Given the description of an element on the screen output the (x, y) to click on. 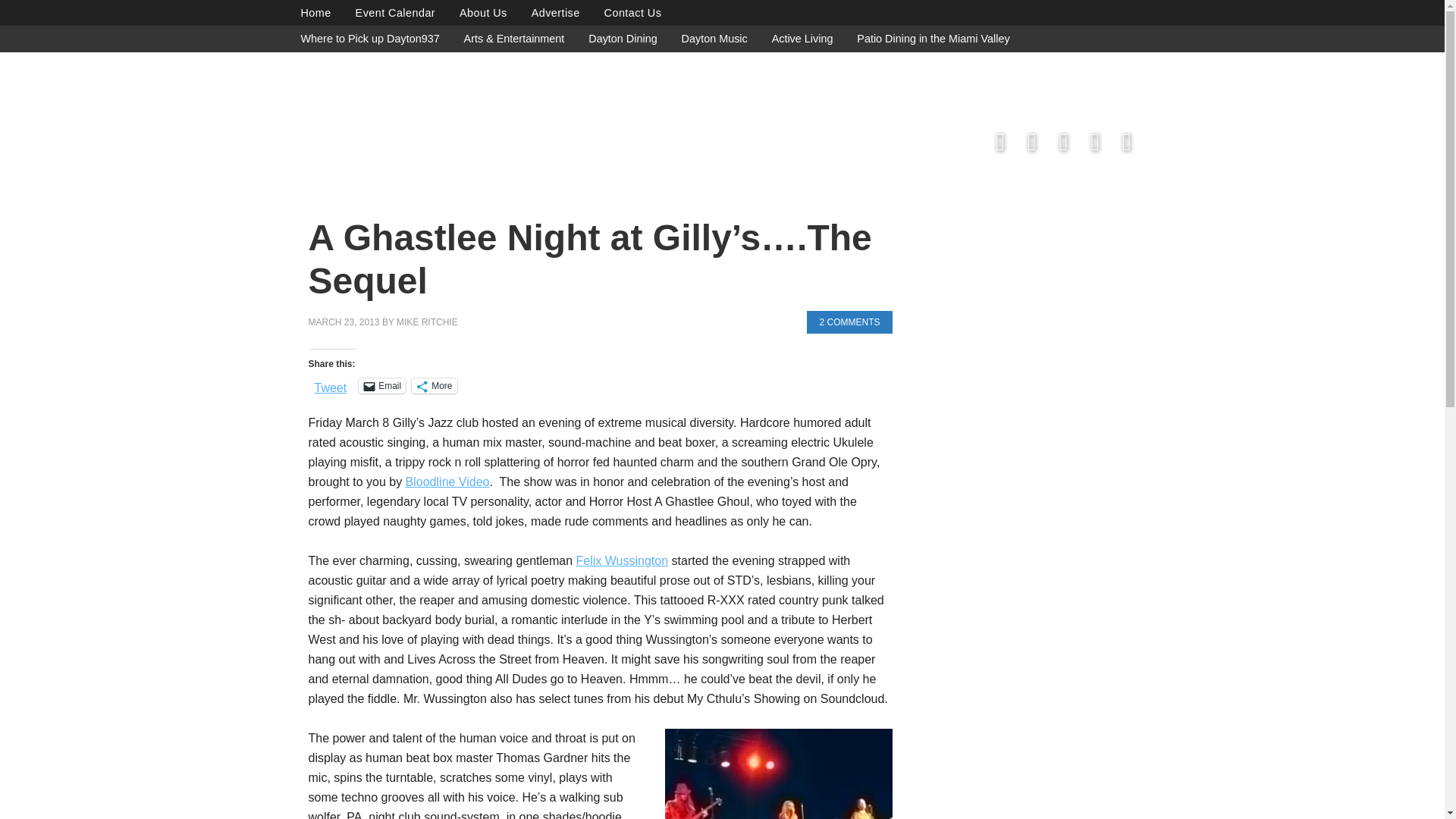
Event Calendar (395, 12)
About Us (483, 12)
Dayton Music (714, 38)
Where to Pick up Dayton937 (369, 38)
Advertise (556, 12)
Dayton Dining (622, 38)
Home (314, 12)
Contact Us (633, 12)
Click to email a link to a friend (382, 385)
